Given the description of an element on the screen output the (x, y) to click on. 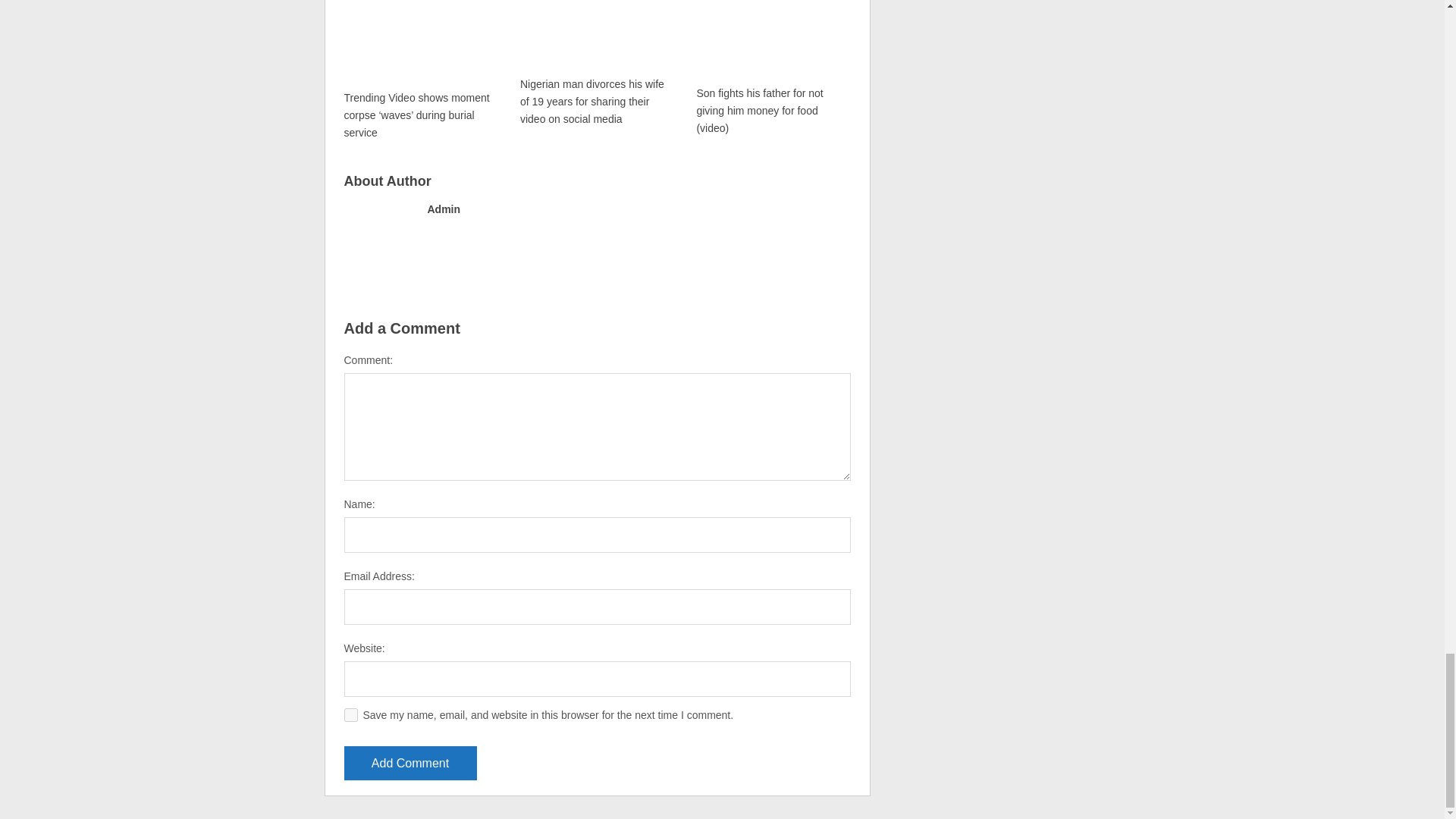
Add Comment (410, 763)
yes (350, 714)
